Given the description of an element on the screen output the (x, y) to click on. 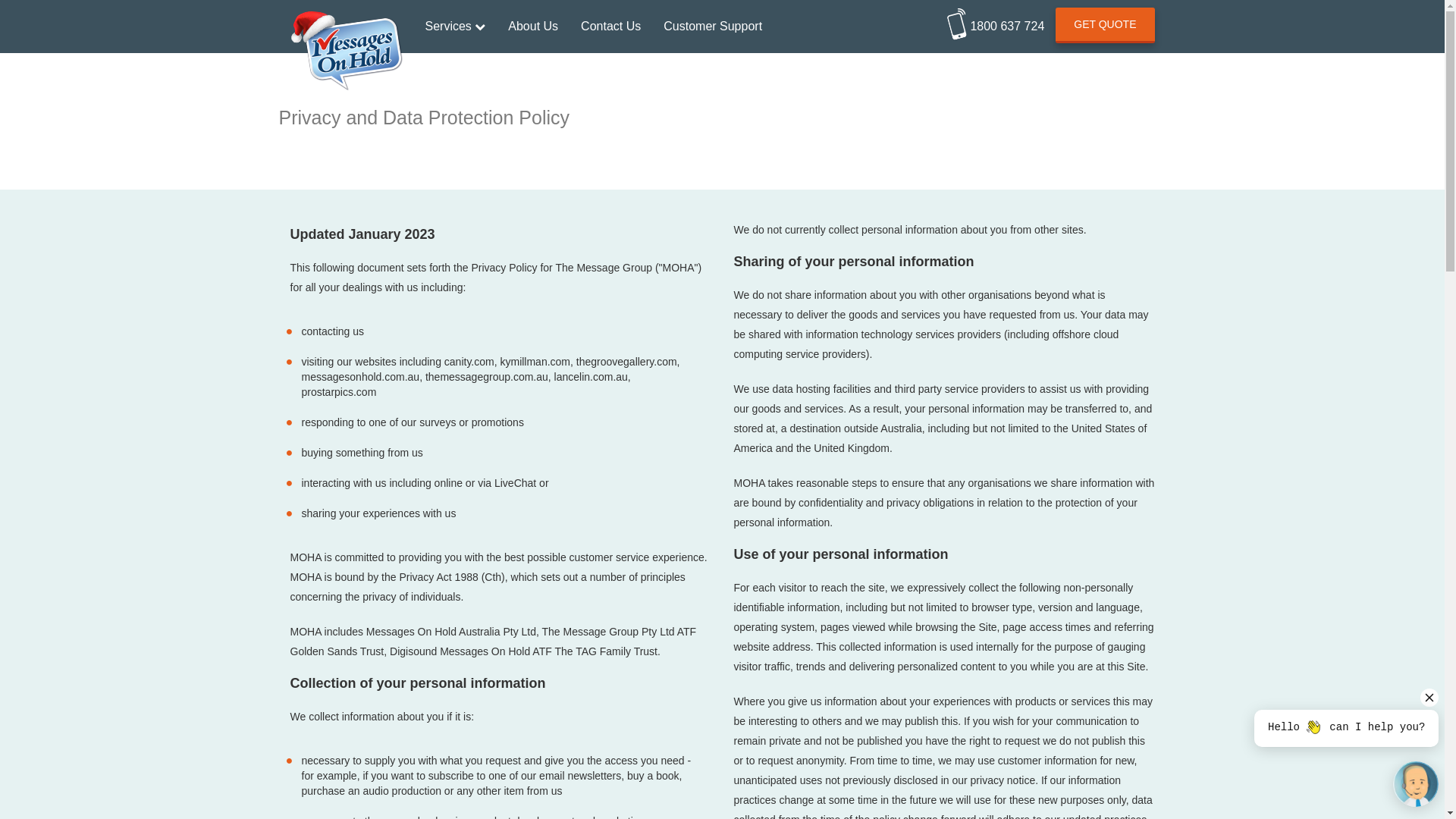
Contact Us
(current) Element type: text (610, 26)
Services Element type: text (455, 26)
1800 637 724 Element type: text (995, 21)
Messages On Hold Logo Element type: hover (345, 51)
Customer Support
(current) Element type: text (712, 26)
GET QUOTE Element type: text (1104, 25)
Home | Messages On Hold Element type: hover (346, 18)
About Us
(current) Element type: text (532, 26)
